Given the description of an element on the screen output the (x, y) to click on. 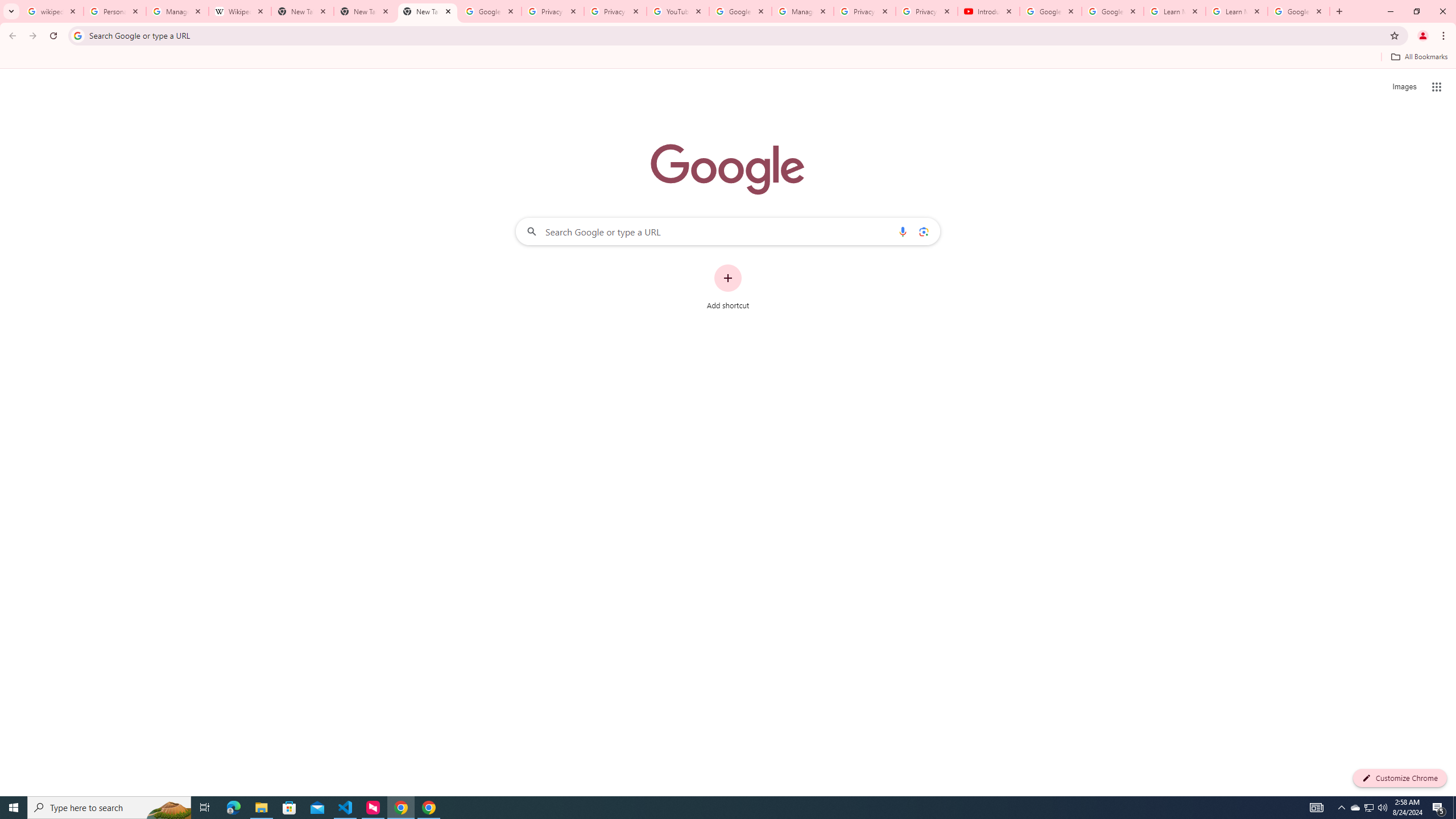
Google Account Help (1111, 11)
New Tab (427, 11)
Personalization & Google Search results - Google Search Help (114, 11)
Wikipedia:Edit requests - Wikipedia (239, 11)
Bookmarks (728, 58)
Add shortcut (727, 287)
New Tab (365, 11)
